Given the description of an element on the screen output the (x, y) to click on. 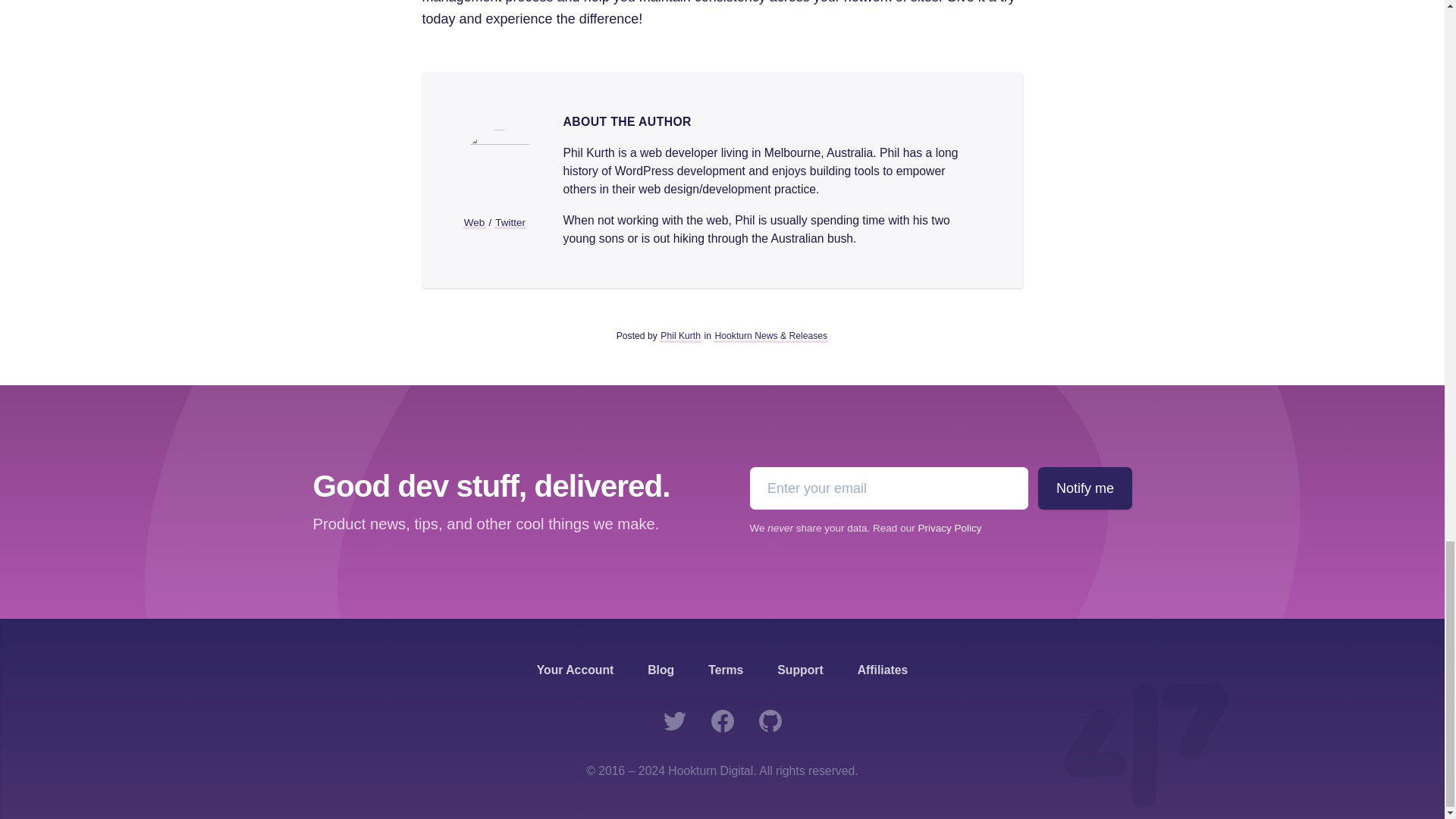
Affiliates (882, 669)
GitHub (770, 720)
Facebook (721, 720)
Support (799, 669)
Web (473, 223)
Phil Kurth (680, 336)
Facebook (721, 720)
Terms (724, 669)
Twitter (674, 720)
Twitter (510, 223)
